Given the description of an element on the screen output the (x, y) to click on. 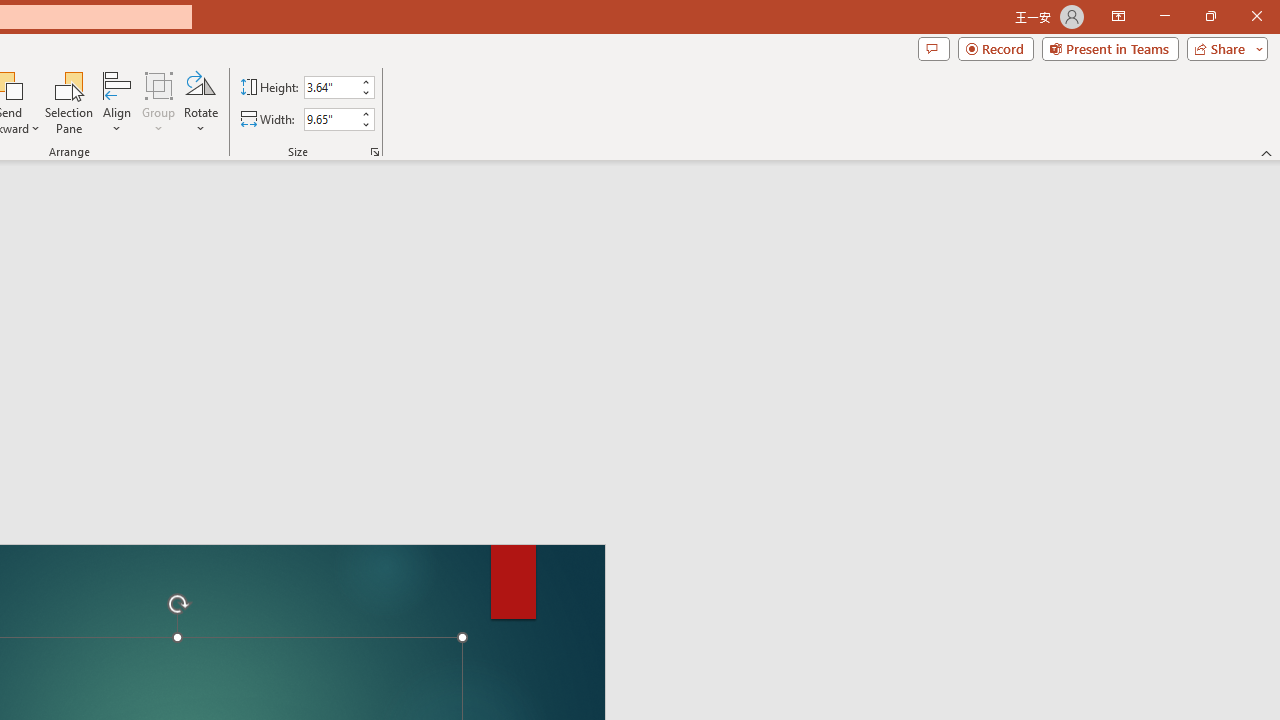
More (365, 113)
Group (159, 102)
Rotate (200, 102)
Shape Width (330, 119)
Shape Height (330, 87)
Size and Position... (374, 151)
Align (117, 102)
